Given the description of an element on the screen output the (x, y) to click on. 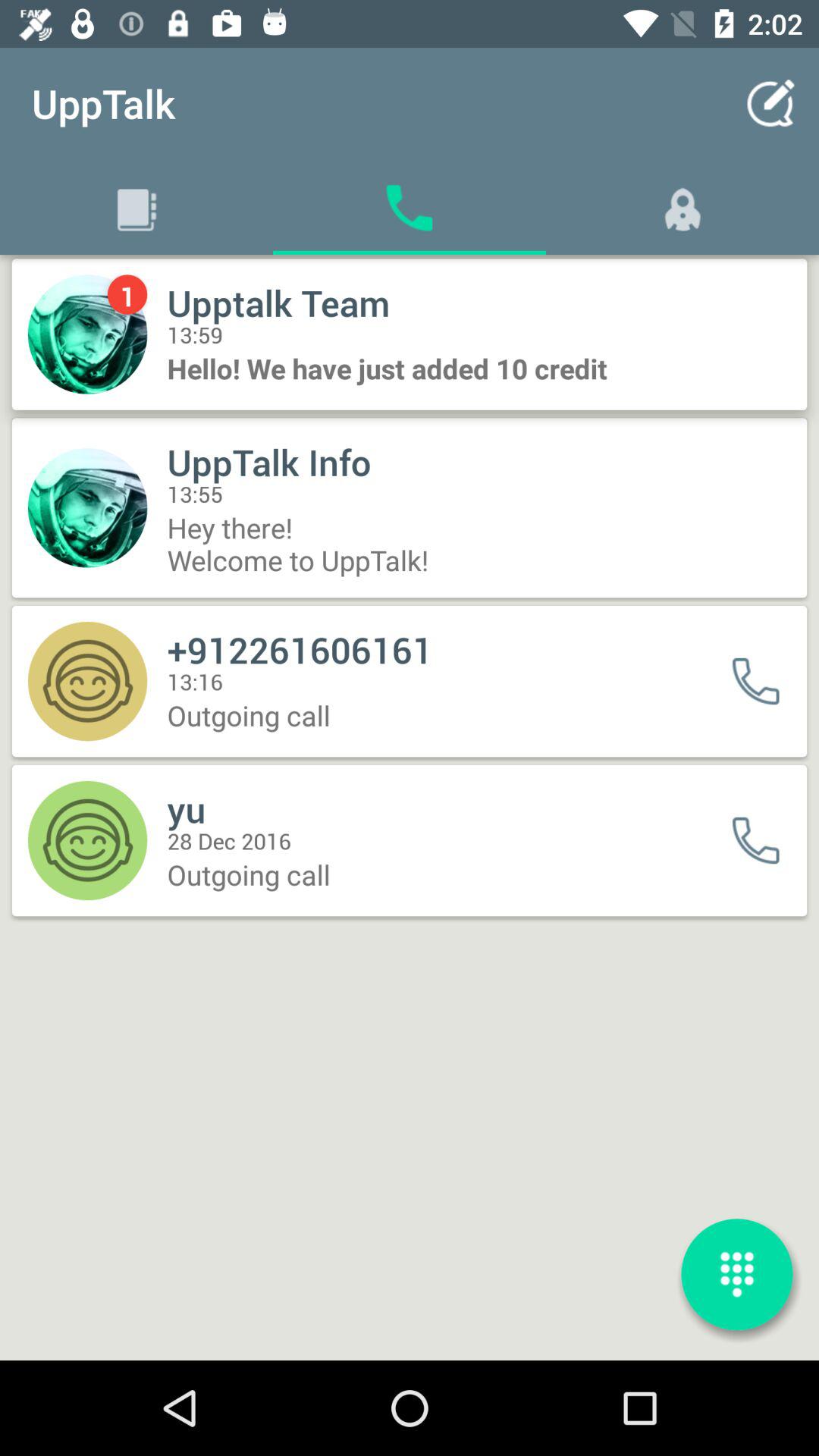
dial numbers (737, 1274)
